Given the description of an element on the screen output the (x, y) to click on. 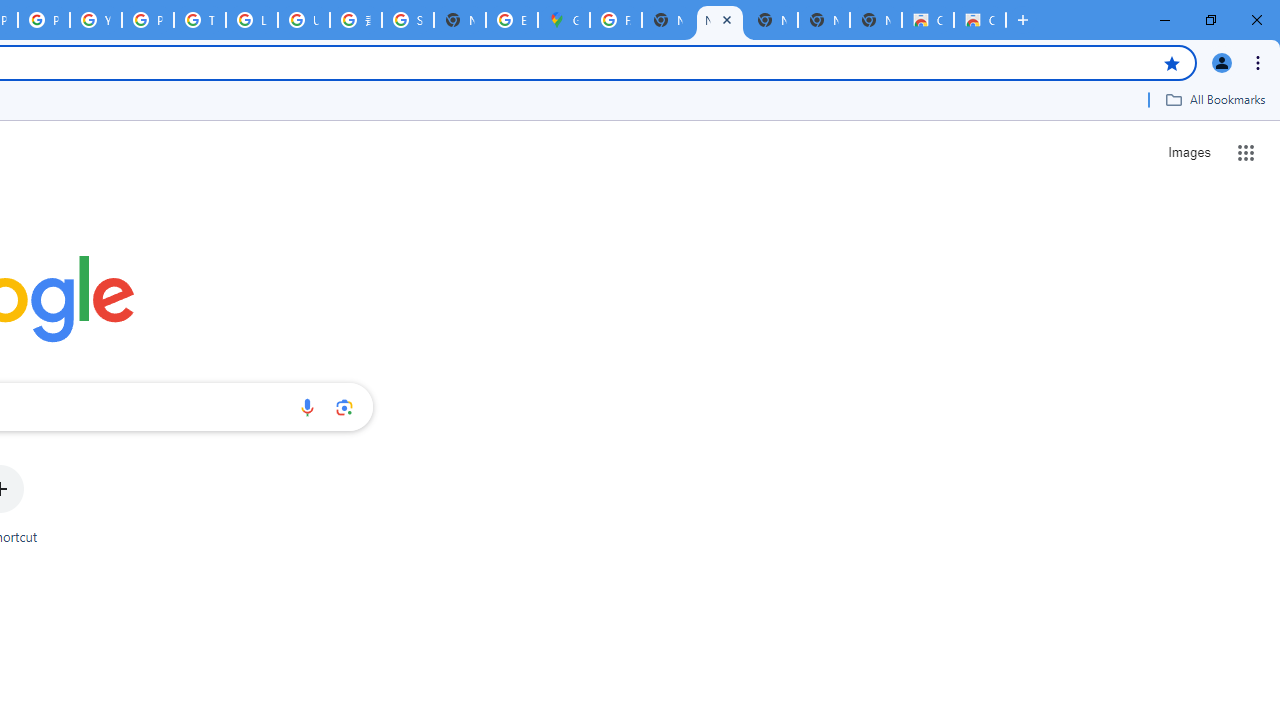
You (1221, 62)
Bookmark this tab (1171, 62)
All Bookmarks (1215, 99)
Search by image (344, 407)
Google Maps (563, 20)
Search by voice (307, 407)
Explore new street-level details - Google Maps Help (511, 20)
Tips & tricks for Chrome - Google Chrome Help (200, 20)
New Tab (459, 20)
